Given the description of an element on the screen output the (x, y) to click on. 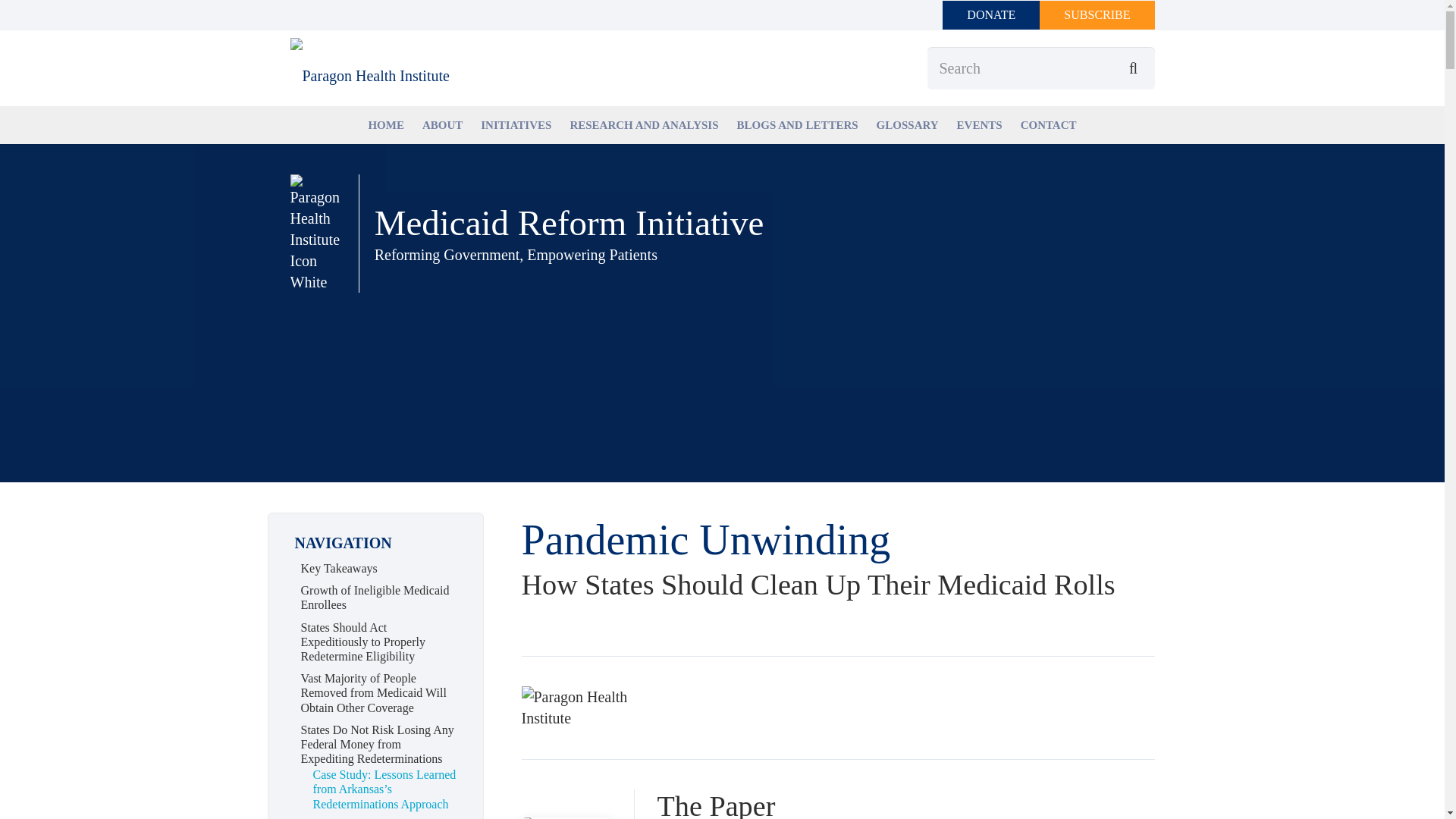
ABOUT (442, 124)
DONATE (990, 14)
BLOGS AND LETTERS (797, 124)
HOME (385, 124)
INITIATIVES (515, 124)
GLOSSARY (907, 124)
EVENTS (979, 124)
CONTACT (1048, 124)
RESEARCH AND ANALYSIS (643, 124)
SUBSCRIBE (1096, 14)
